Given the description of an element on the screen output the (x, y) to click on. 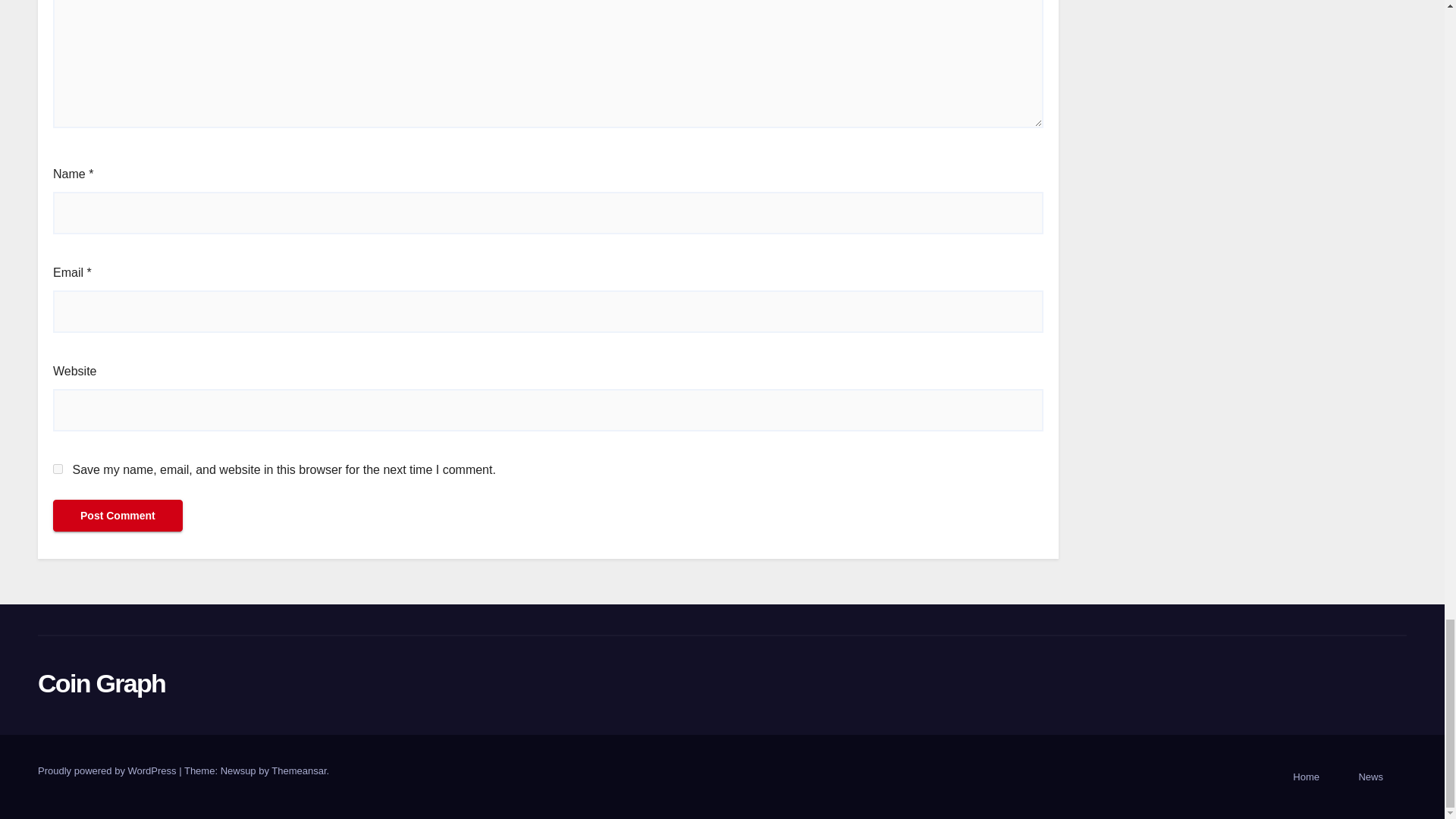
Post Comment (117, 515)
Coin Graph (101, 683)
yes (57, 469)
Post Comment (117, 515)
Home (1306, 776)
News (1369, 776)
